Given the description of an element on the screen output the (x, y) to click on. 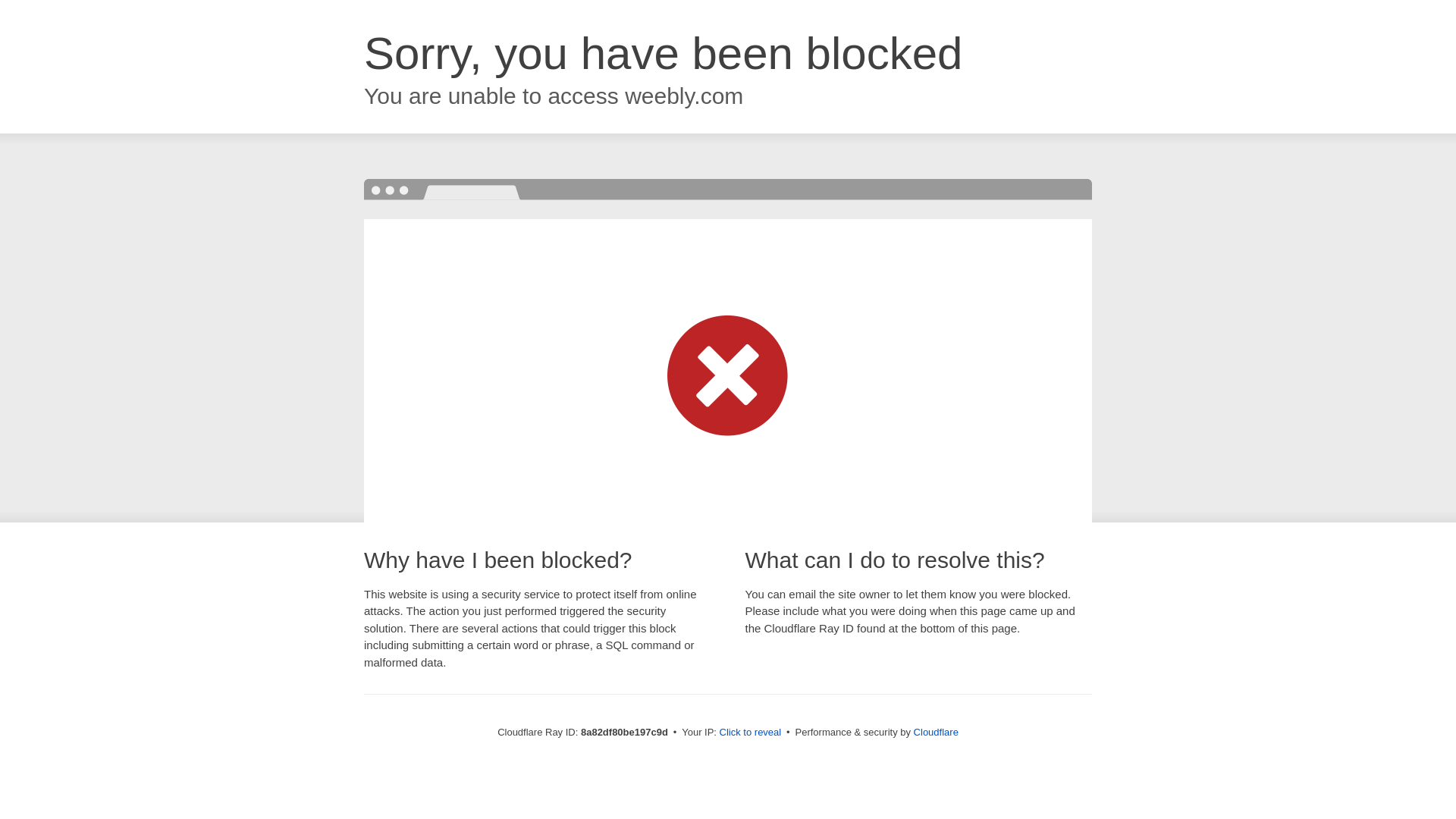
Cloudflare (936, 731)
Click to reveal (750, 732)
